Given the description of an element on the screen output the (x, y) to click on. 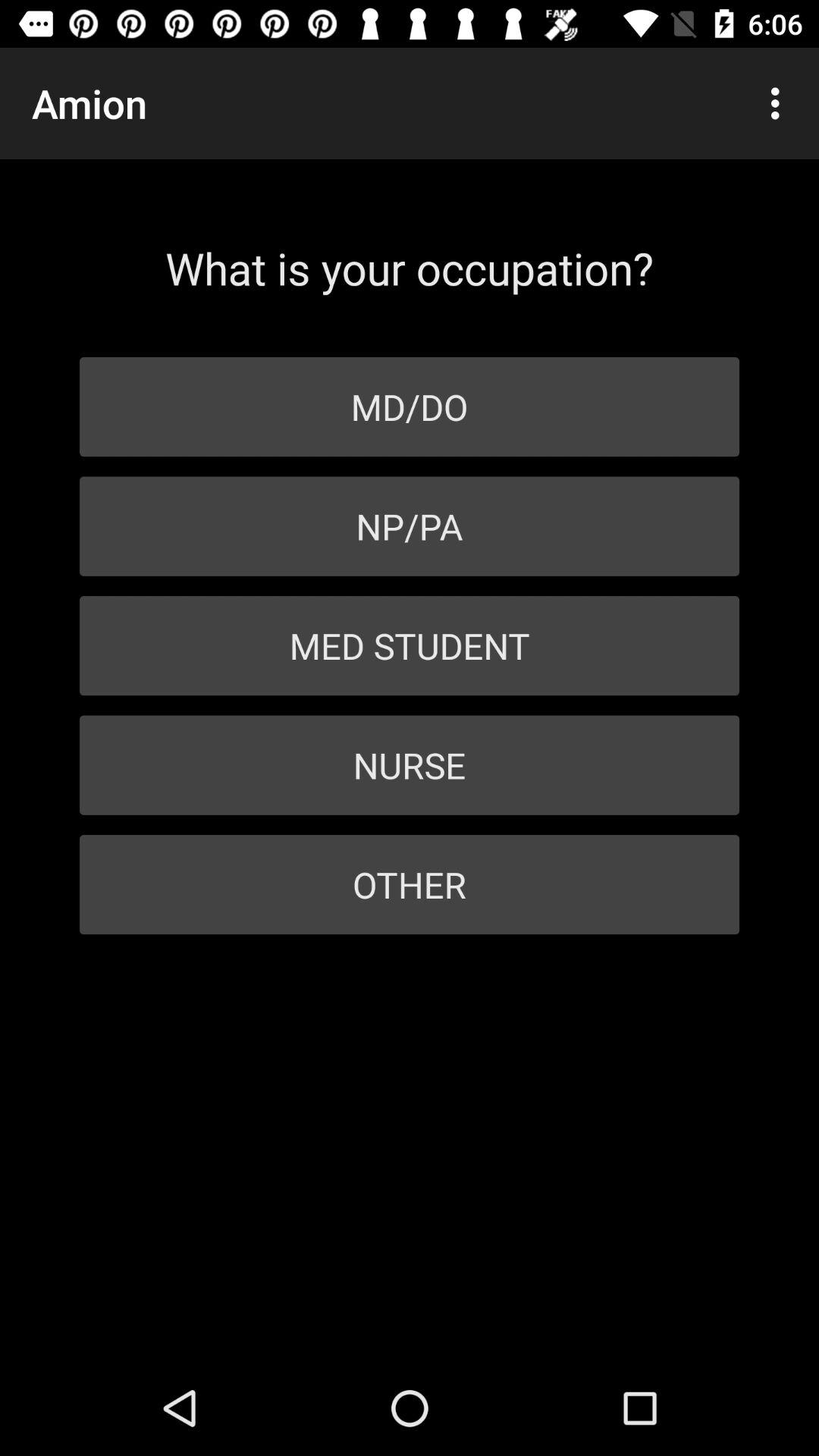
select icon above med student (409, 526)
